Given the description of an element on the screen output the (x, y) to click on. 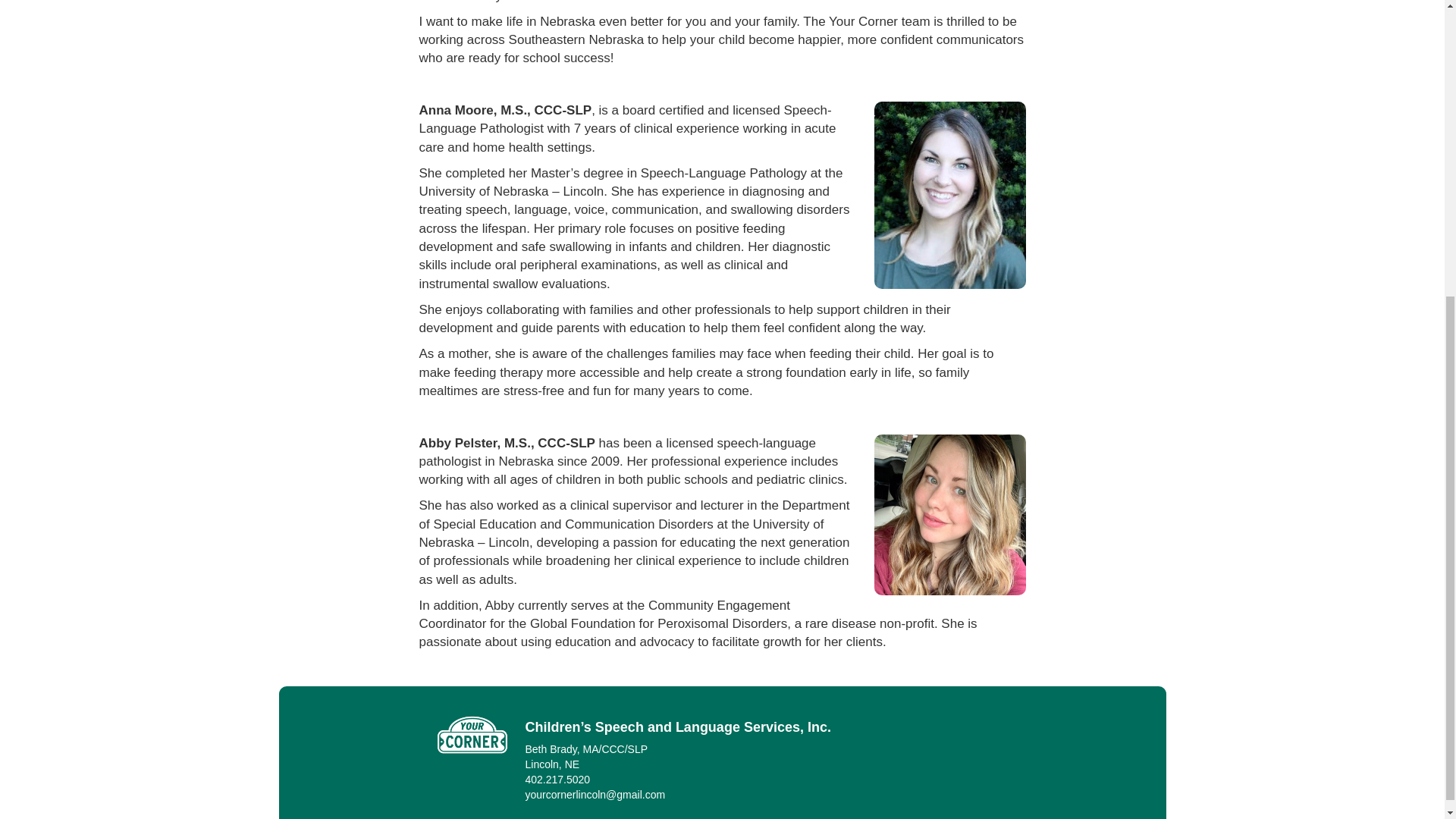
402.217.5020 (556, 779)
